Given the description of an element on the screen output the (x, y) to click on. 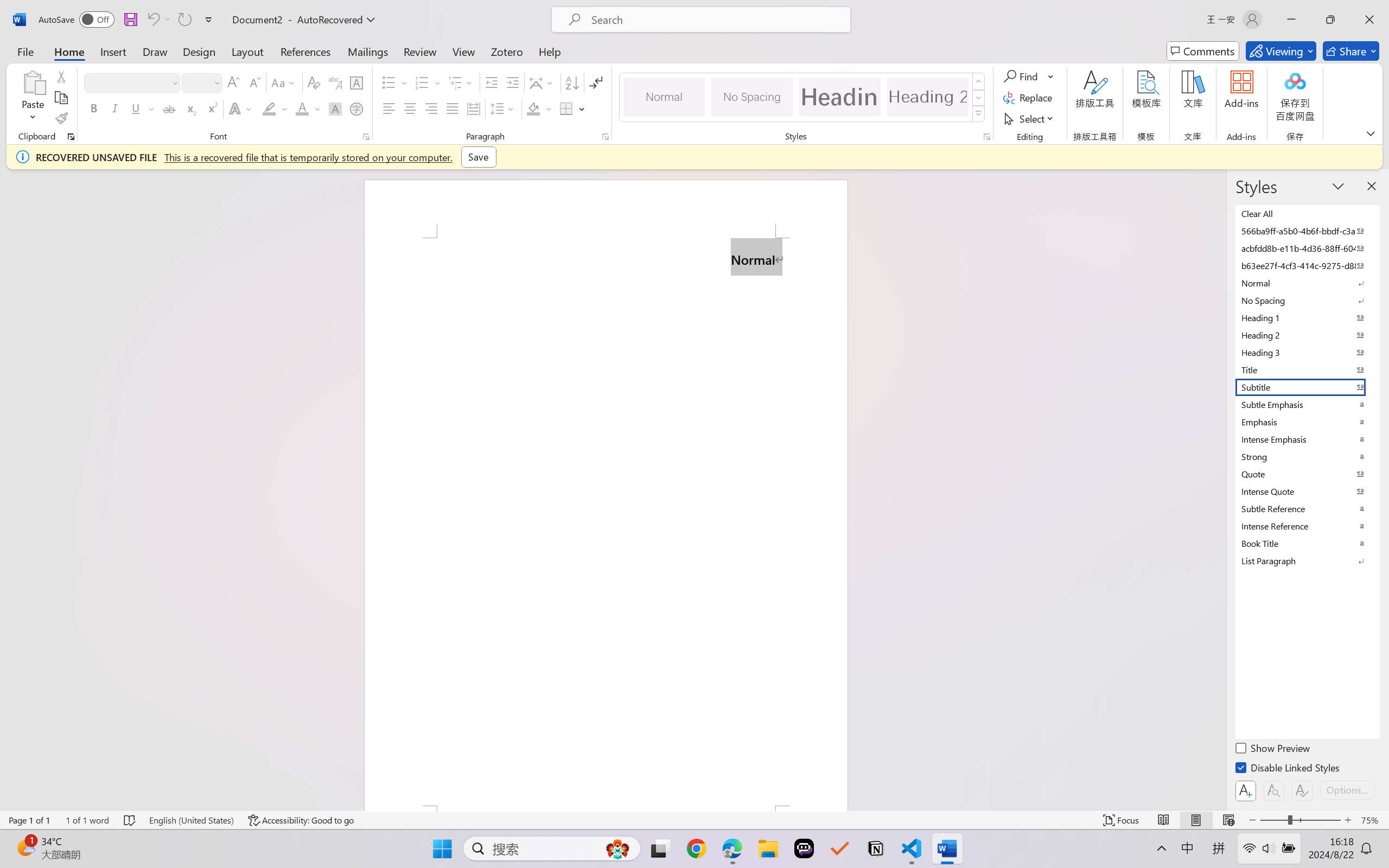
Strikethrough (169, 108)
Asian Layout (542, 82)
Paragraph... (605, 136)
566ba9ff-a5b0-4b6f-bbdf-c3ab41993fc2 (1306, 230)
Character Shading (334, 108)
Shading (539, 108)
Font Color (308, 108)
Center (409, 108)
